Given the description of an element on the screen output the (x, y) to click on. 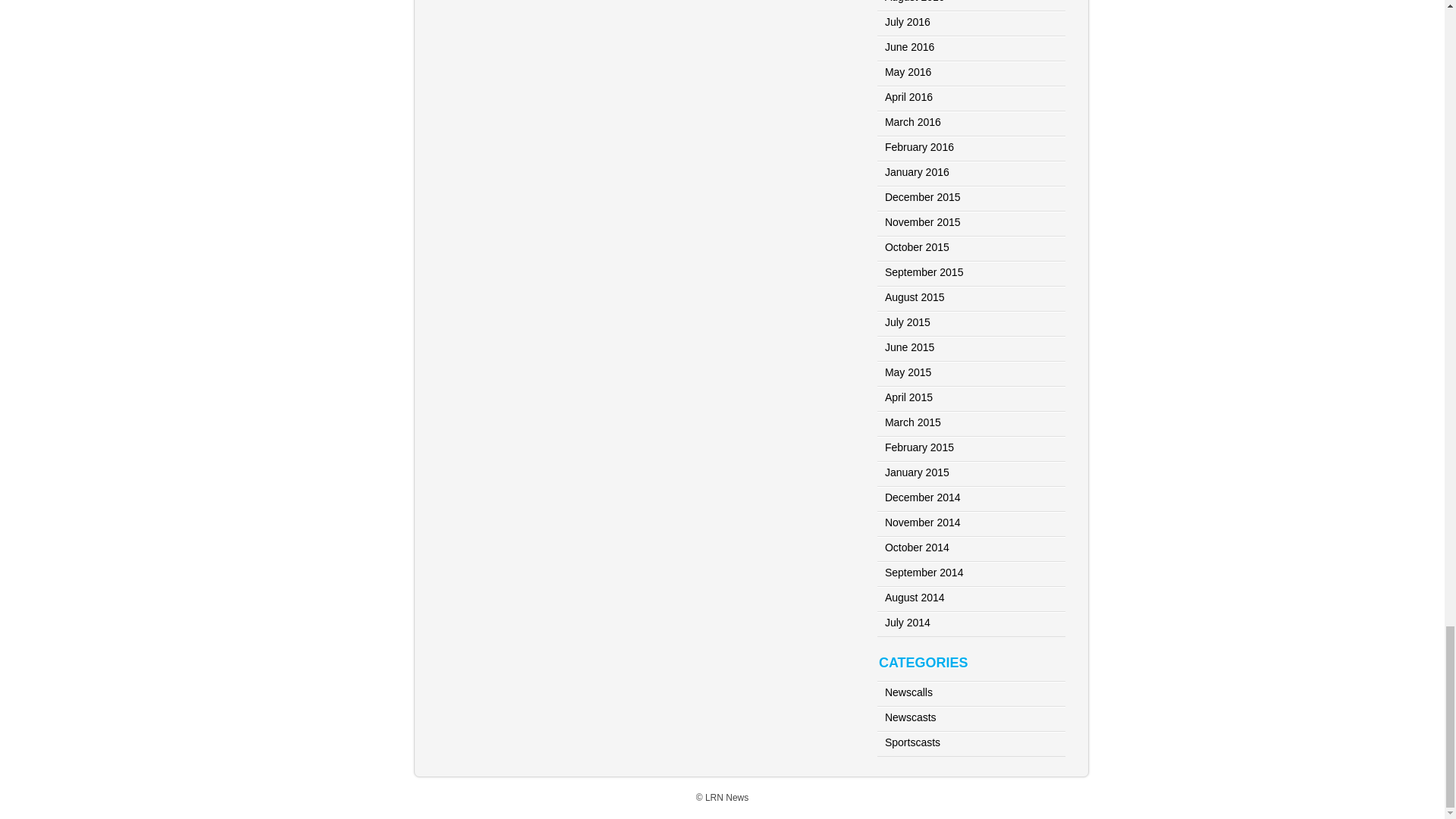
LRN Hourly Newscasts (910, 717)
LRN Sportscasts (912, 742)
LRN Newscalls (909, 692)
